Given the description of an element on the screen output the (x, y) to click on. 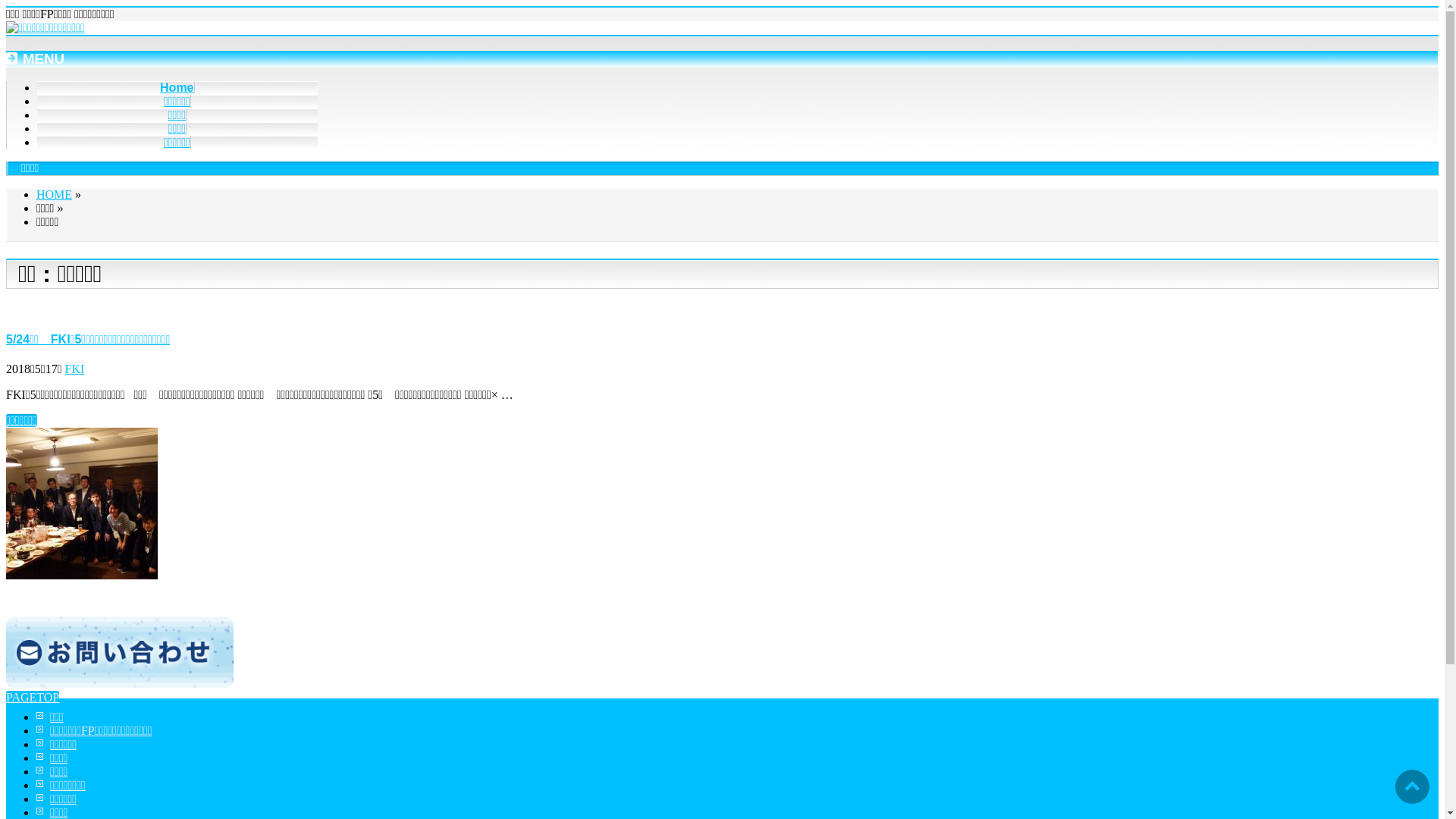
PAGETOP Element type: text (32, 696)
MENU Element type: text (722, 58)
FKI Element type: text (74, 368)
Home Element type: text (177, 87)
HOME Element type: text (54, 194)
